Given the description of an element on the screen output the (x, y) to click on. 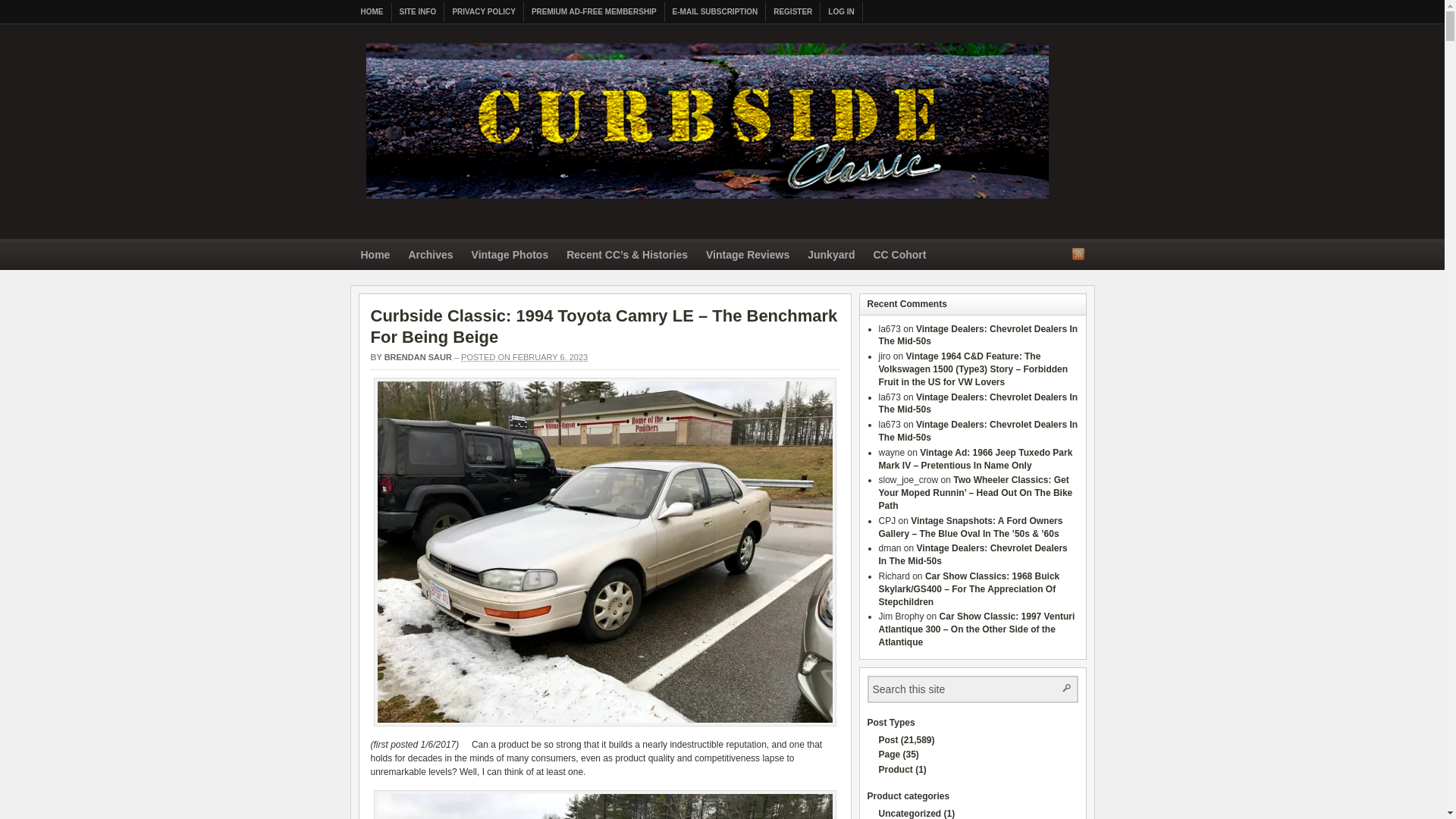
Curbside Classic RSS Feed (1078, 253)
Search (1065, 687)
SITE INFO (417, 12)
2023-02-06T12:00:21-08:00 (524, 356)
Search this site (955, 689)
Curbside Classic (706, 203)
REGISTER (793, 12)
E-MAIL SUBSCRIPTION (716, 12)
Vintage Photos (510, 256)
Search (1065, 687)
